Given the description of an element on the screen output the (x, y) to click on. 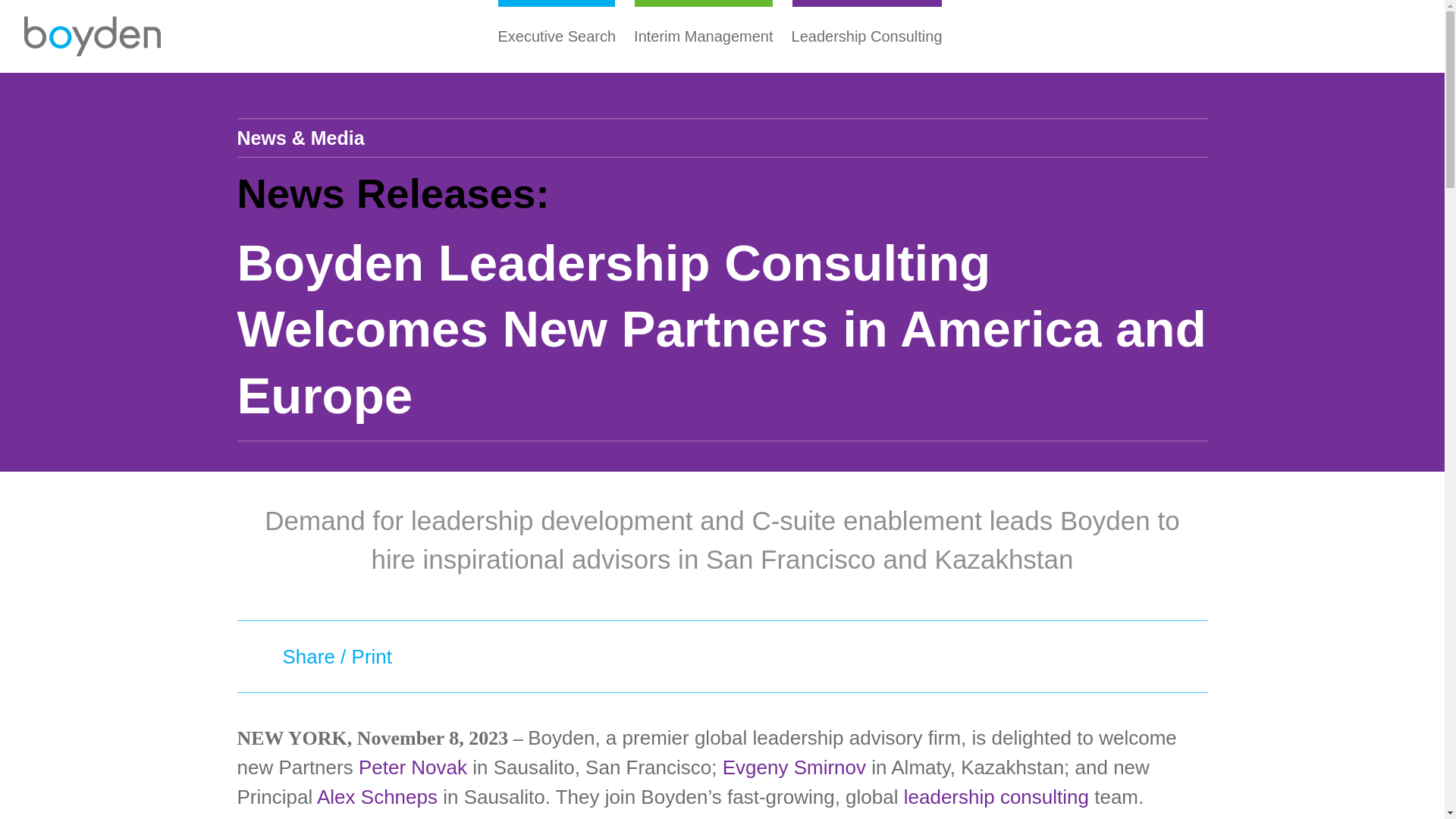
Executive Search (555, 36)
Leadership Consulting (867, 36)
Boyden Executive Search (92, 36)
Interim Management (702, 36)
